Given the description of an element on the screen output the (x, y) to click on. 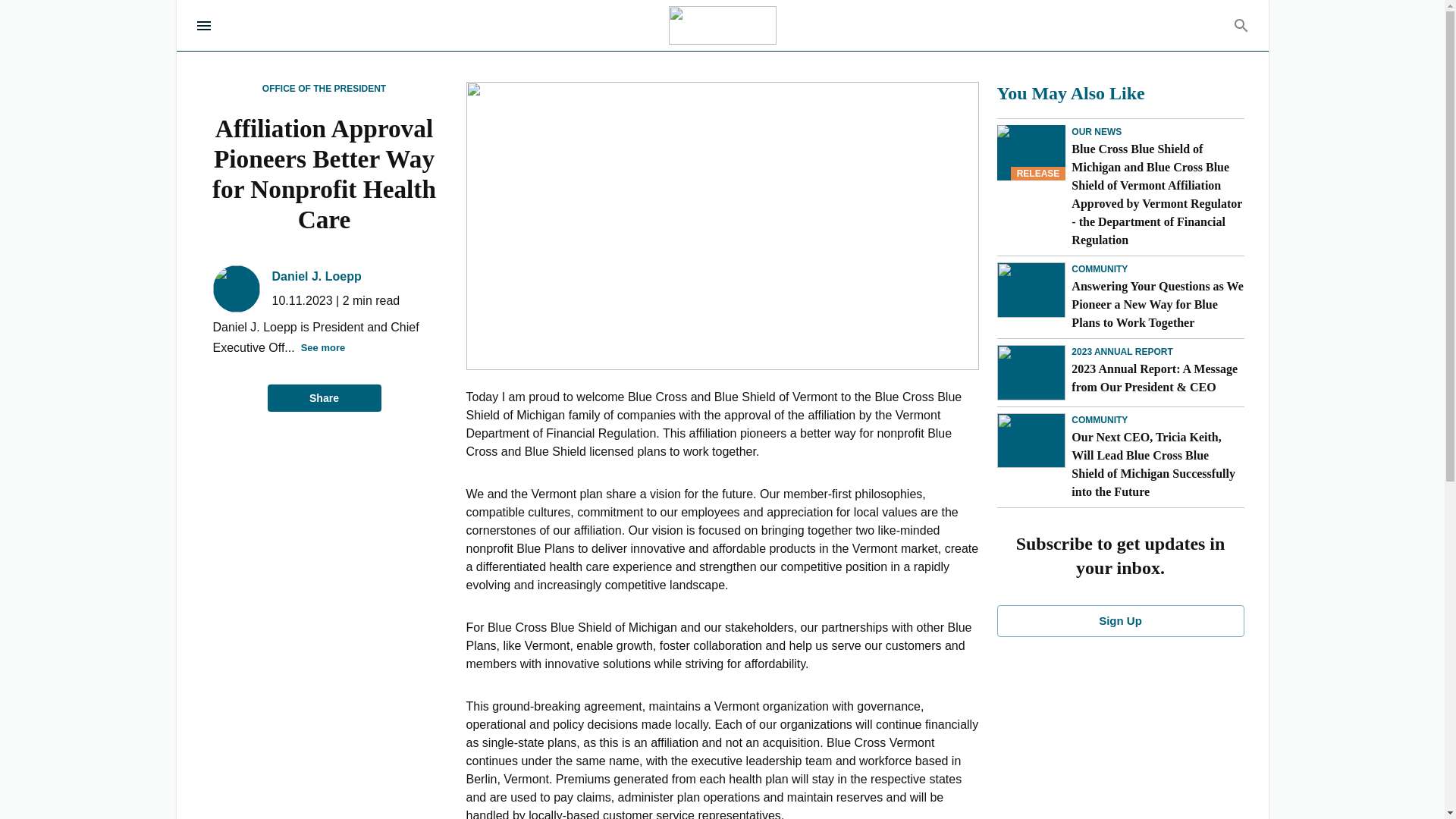
2023 ANNUAL REPORT (1121, 351)
Share (323, 398)
See more (323, 348)
COMMUNITY (1098, 269)
OUR NEWS (1096, 131)
COMMUNITY (1098, 419)
OFFICE OF THE PRESIDENT (323, 88)
Daniel J. Loepp (315, 276)
Sign Up (1119, 621)
RELEASE (1030, 152)
